Given the description of an element on the screen output the (x, y) to click on. 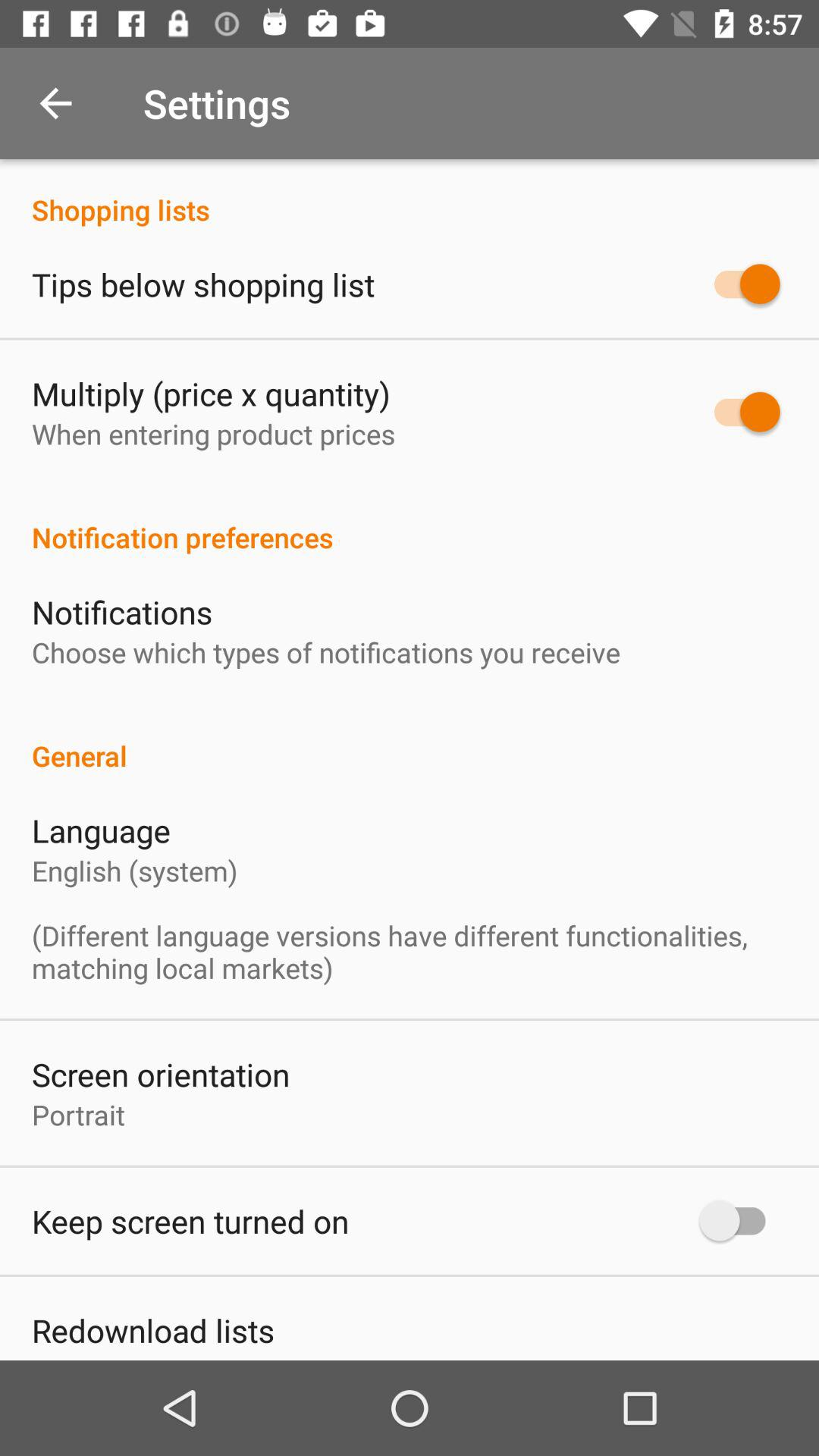
click on on and off button which is beside keep screen turned on (739, 1220)
click on the first switch button (739, 284)
